Given the description of an element on the screen output the (x, y) to click on. 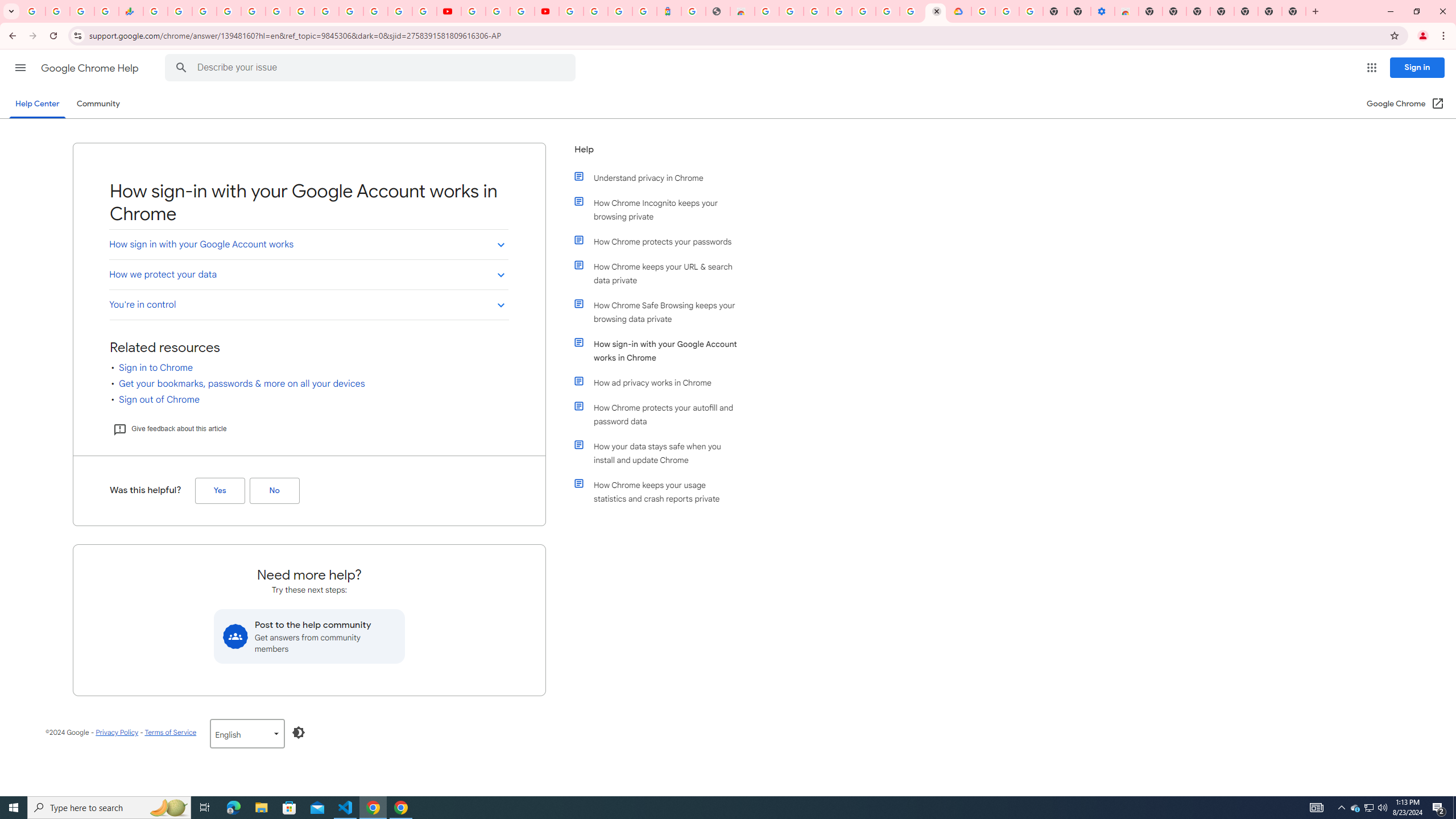
Ad Settings (814, 11)
How Chrome keeps your URL & search data private (661, 273)
Content Creator Programs & Opportunities - YouTube Creators (546, 11)
How we protect your data (308, 274)
Understand privacy in Chrome (661, 177)
Sign in - Google Accounts (983, 11)
No (Was this helpful?) (273, 490)
